Given the description of an element on the screen output the (x, y) to click on. 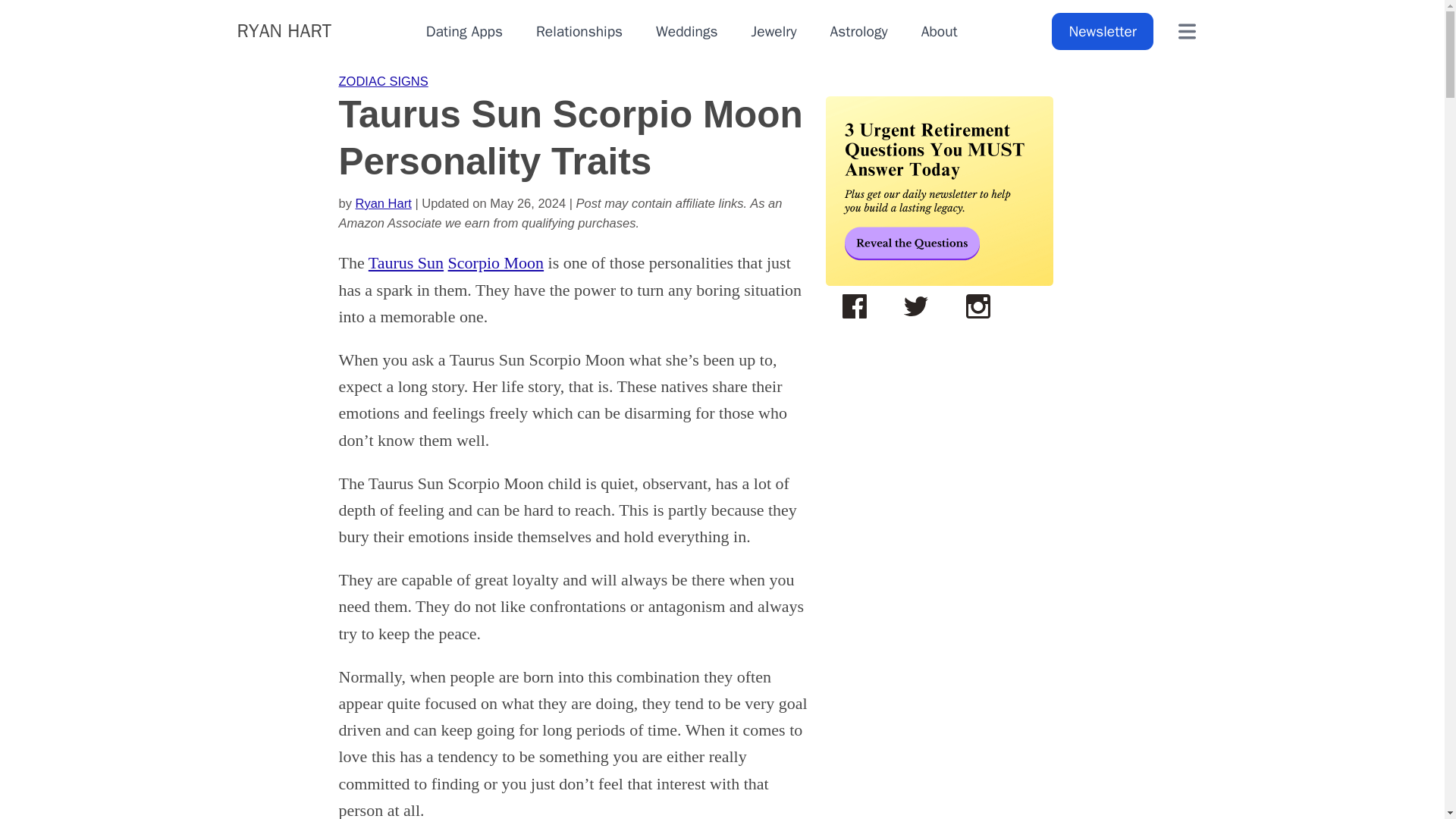
Dating Apps (464, 31)
Relationships (579, 31)
RYAN HART (283, 30)
About (939, 31)
Scorpio Moon (496, 262)
Facebook profile (854, 305)
Instagram profile (976, 305)
Astrology (858, 31)
Taurus Sun (406, 262)
Weddings (686, 31)
